Given the description of an element on the screen output the (x, y) to click on. 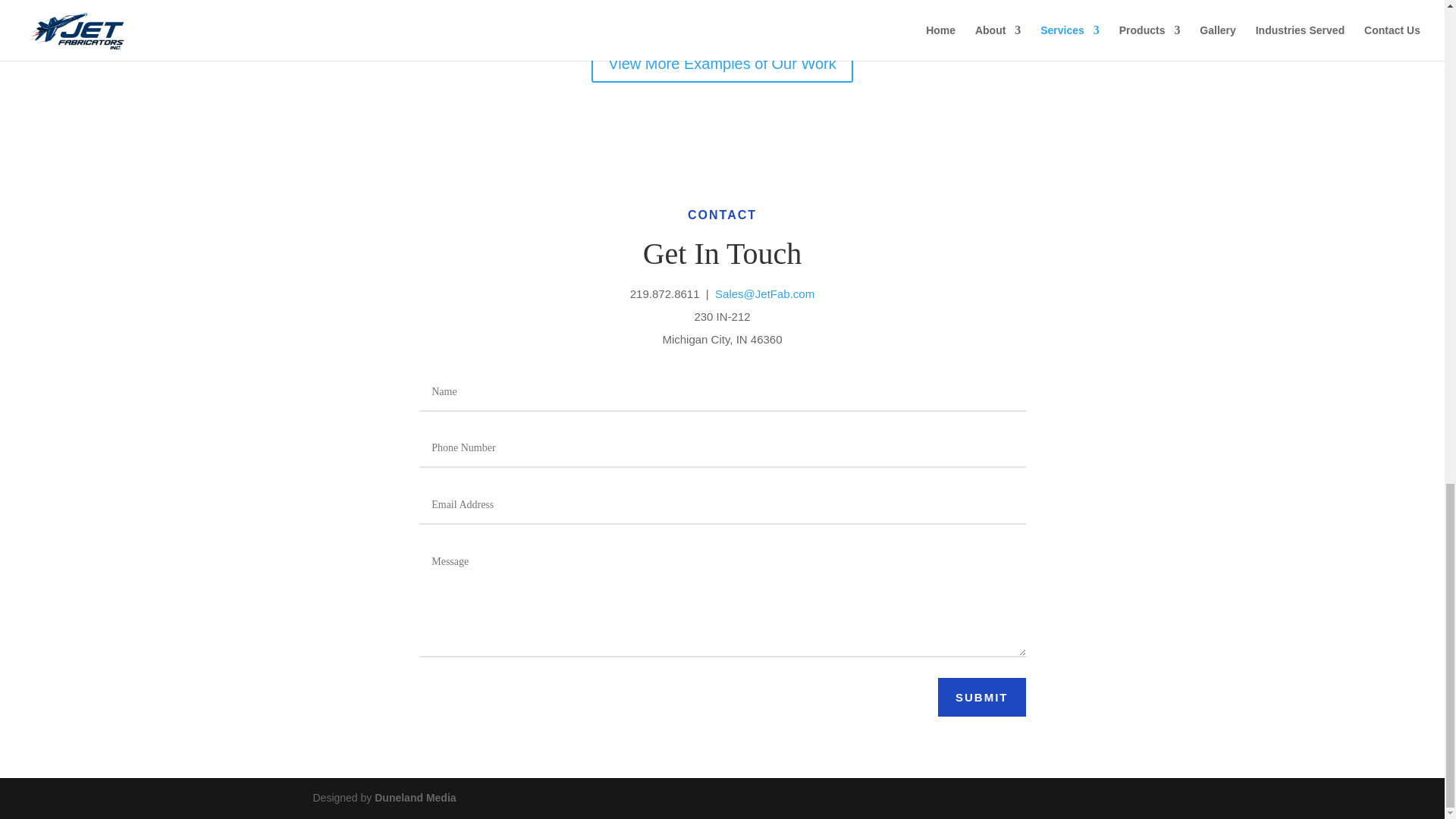
SUBMIT (981, 697)
Duneland Media (414, 797)
View More Examples of Our Work (721, 63)
